Given the description of an element on the screen output the (x, y) to click on. 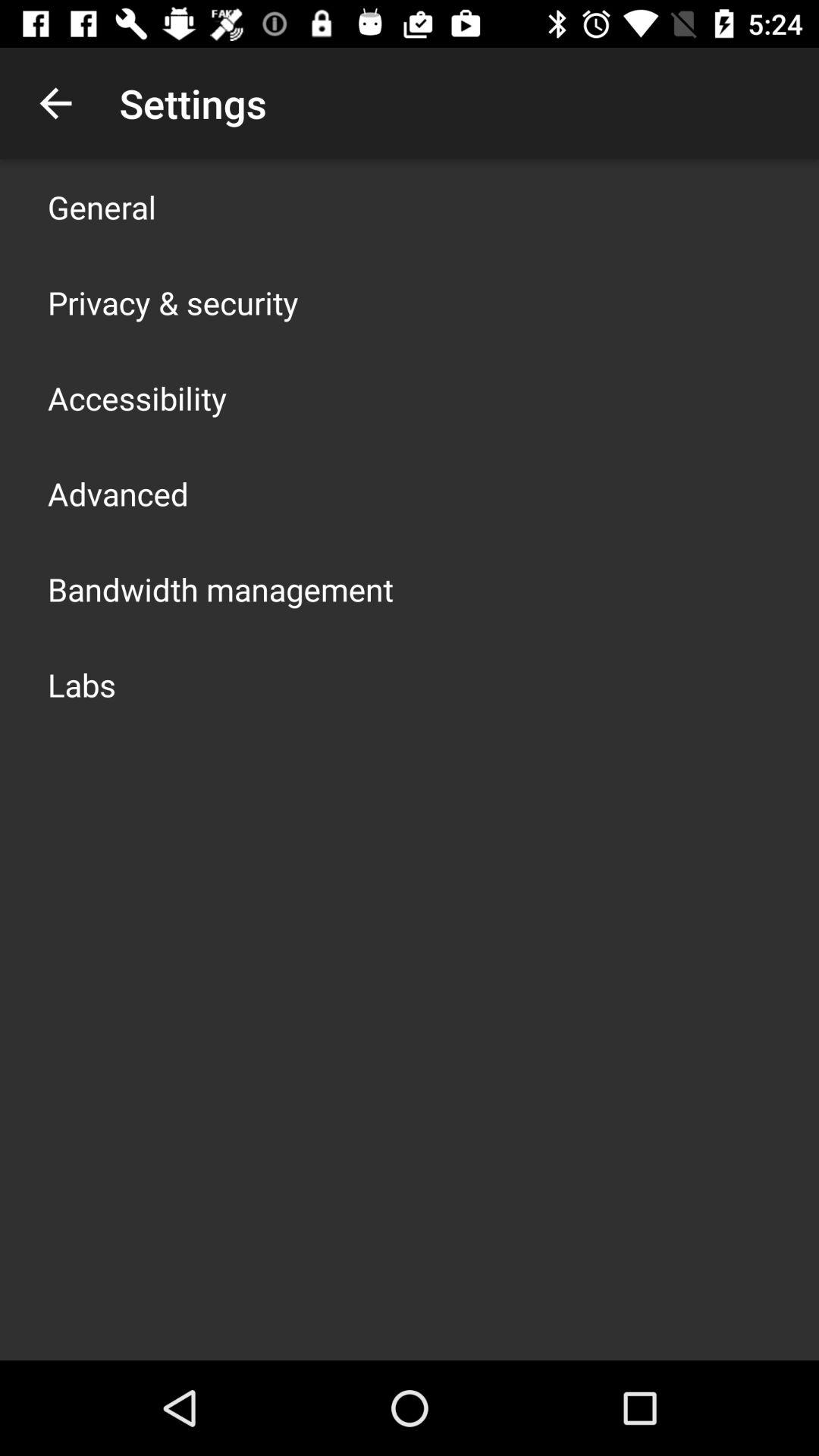
turn off app above the general icon (55, 103)
